Given the description of an element on the screen output the (x, y) to click on. 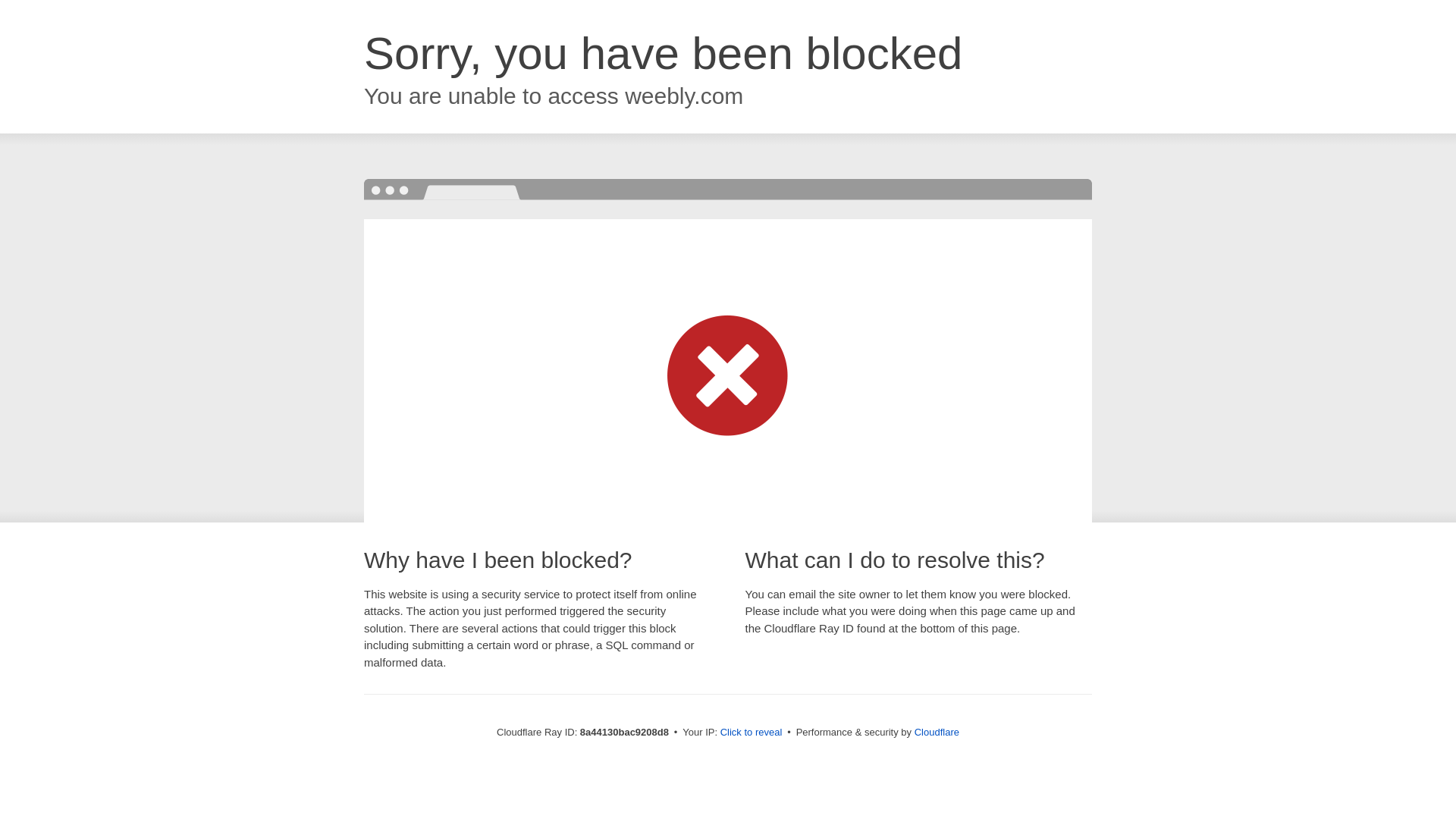
Click to reveal (751, 732)
Cloudflare (936, 731)
